Given the description of an element on the screen output the (x, y) to click on. 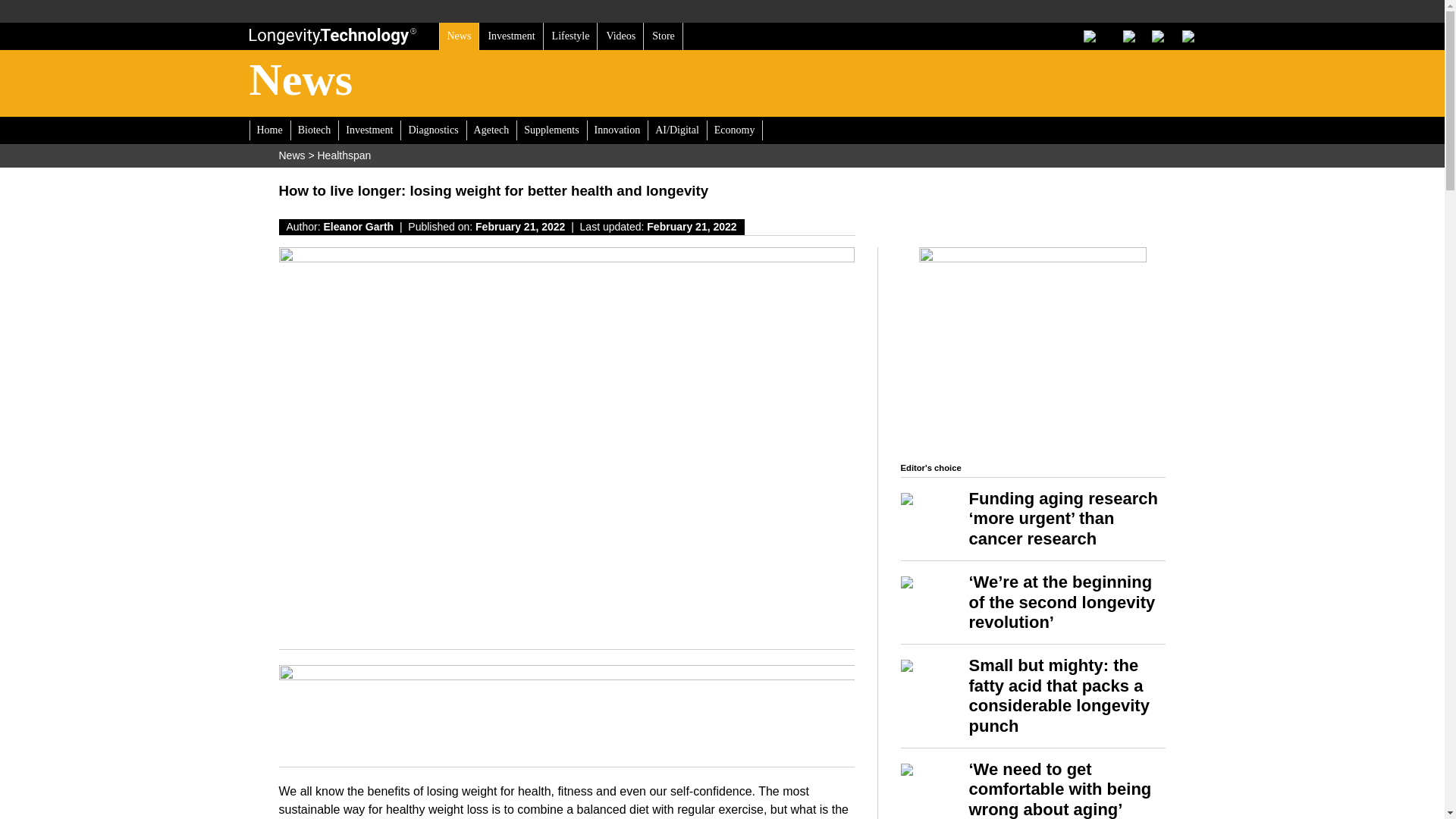
News (458, 35)
Store (662, 35)
Posts by Eleanor Garth (358, 225)
Lifestyle (570, 35)
Investment (511, 35)
Videos (619, 35)
